Given the description of an element on the screen output the (x, y) to click on. 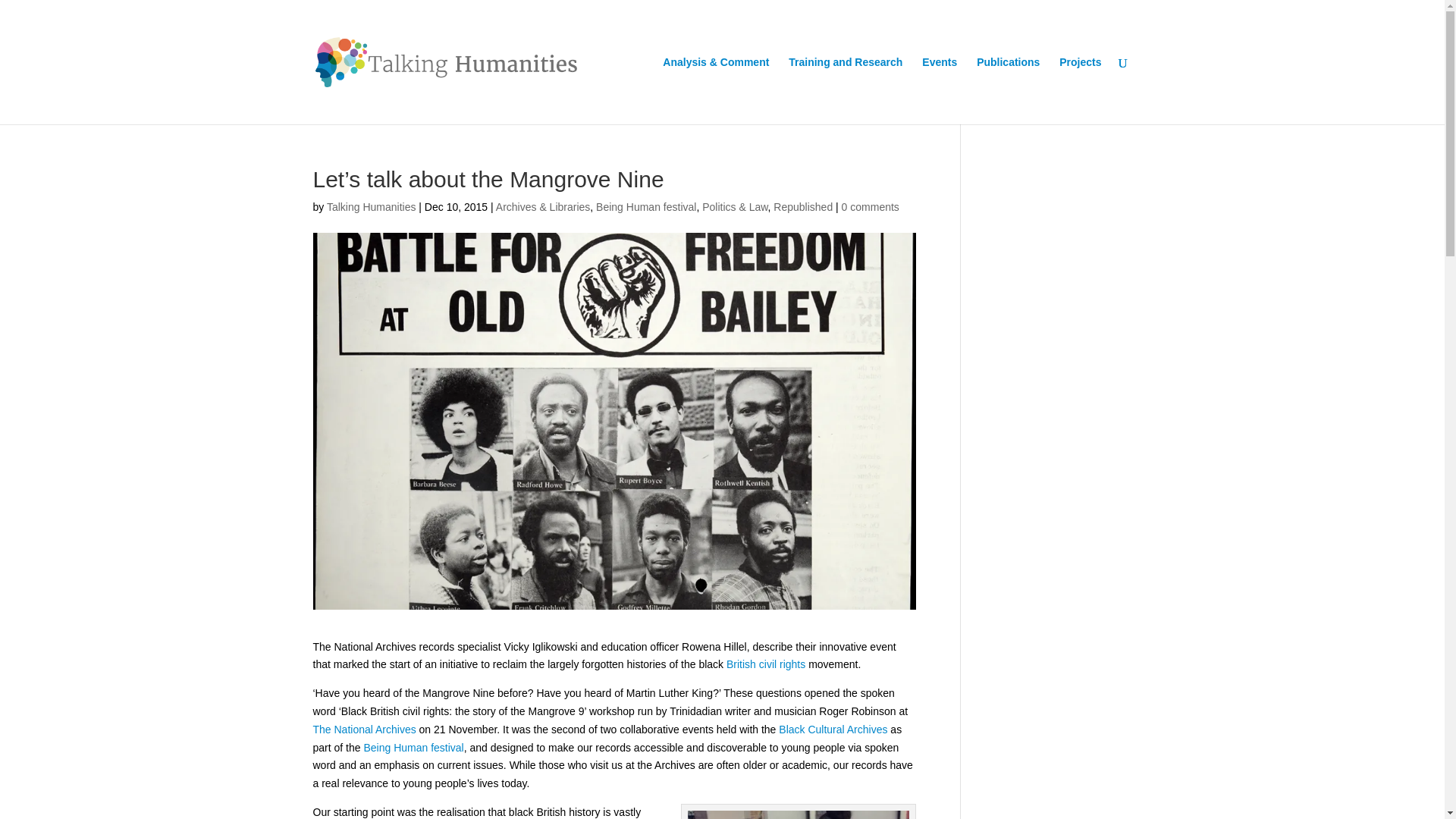
Training and Research (845, 90)
0 comments (870, 206)
Being Human festival (412, 747)
Being Human festival (645, 206)
Publications (1007, 90)
Talking Humanities (371, 206)
Republished (802, 206)
British civil rights (765, 664)
Black Cultural Archives (832, 729)
Posts by Talking Humanities (371, 206)
